Given the description of an element on the screen output the (x, y) to click on. 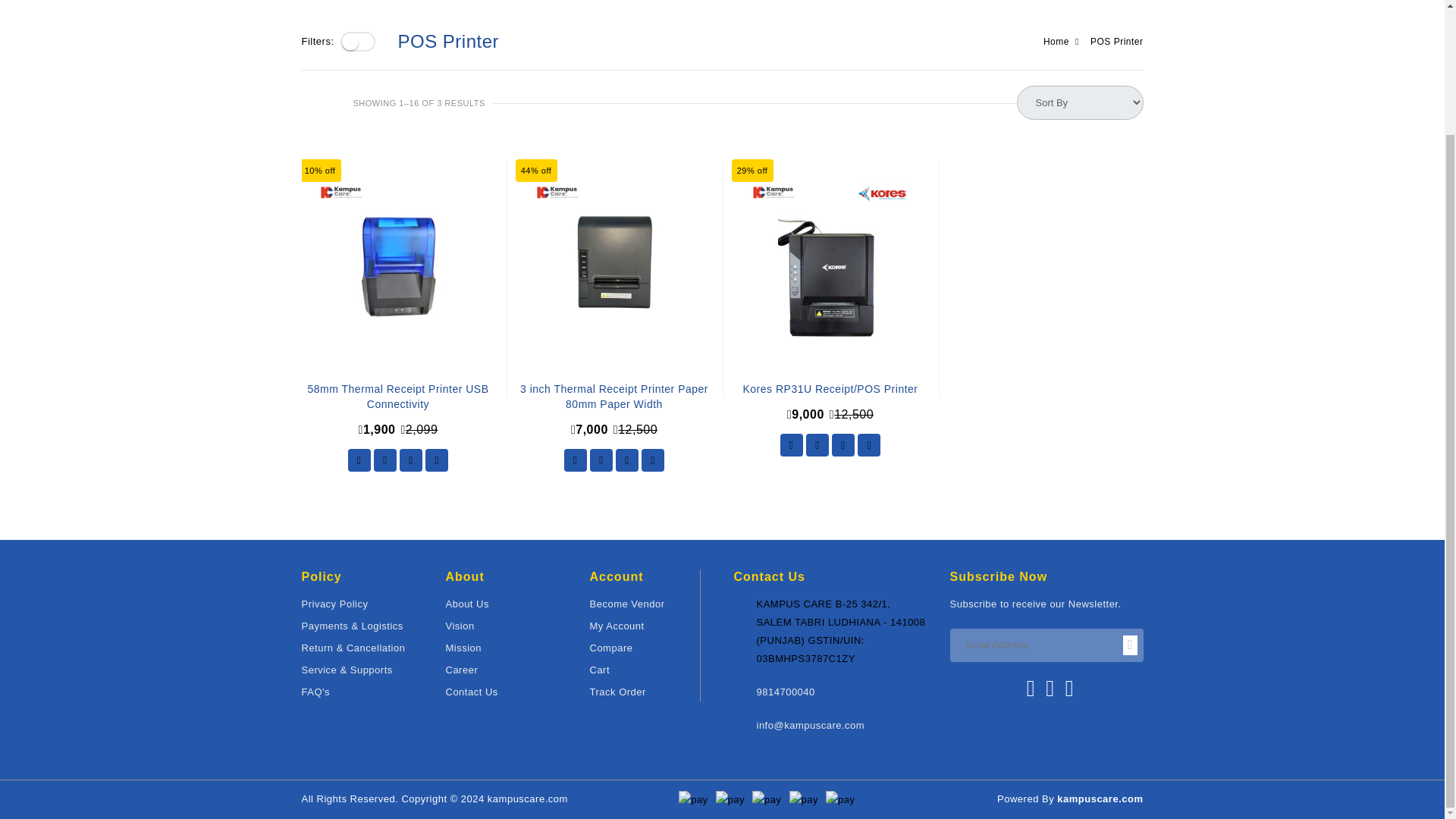
POS Printer (1116, 41)
58mm Thermal Receipt Printer USB Connectivity (398, 400)
3 inch Thermal Receipt Printer Paper 80mm Paper Width (613, 400)
Home (1055, 41)
